Given the description of an element on the screen output the (x, y) to click on. 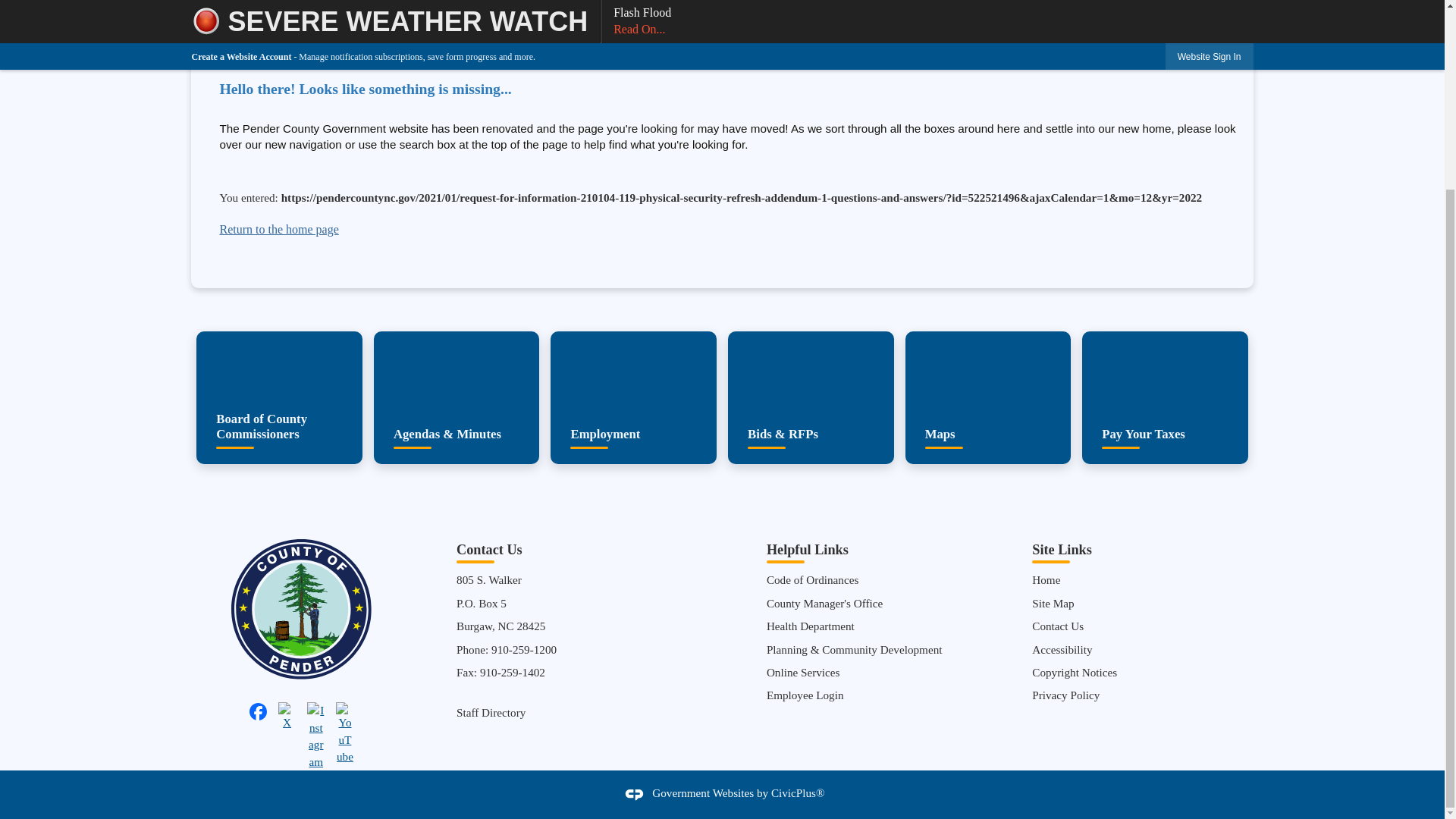
Employee Login (805, 694)
Helpful Links (807, 549)
Contact Us (1057, 625)
Return to the home page (278, 228)
Employment (633, 397)
Staff Directory (491, 712)
Site Links (1062, 549)
Board of County Commissioners (278, 397)
910-259-1200 (524, 649)
County Manager's Office (824, 603)
